Given the description of an element on the screen output the (x, y) to click on. 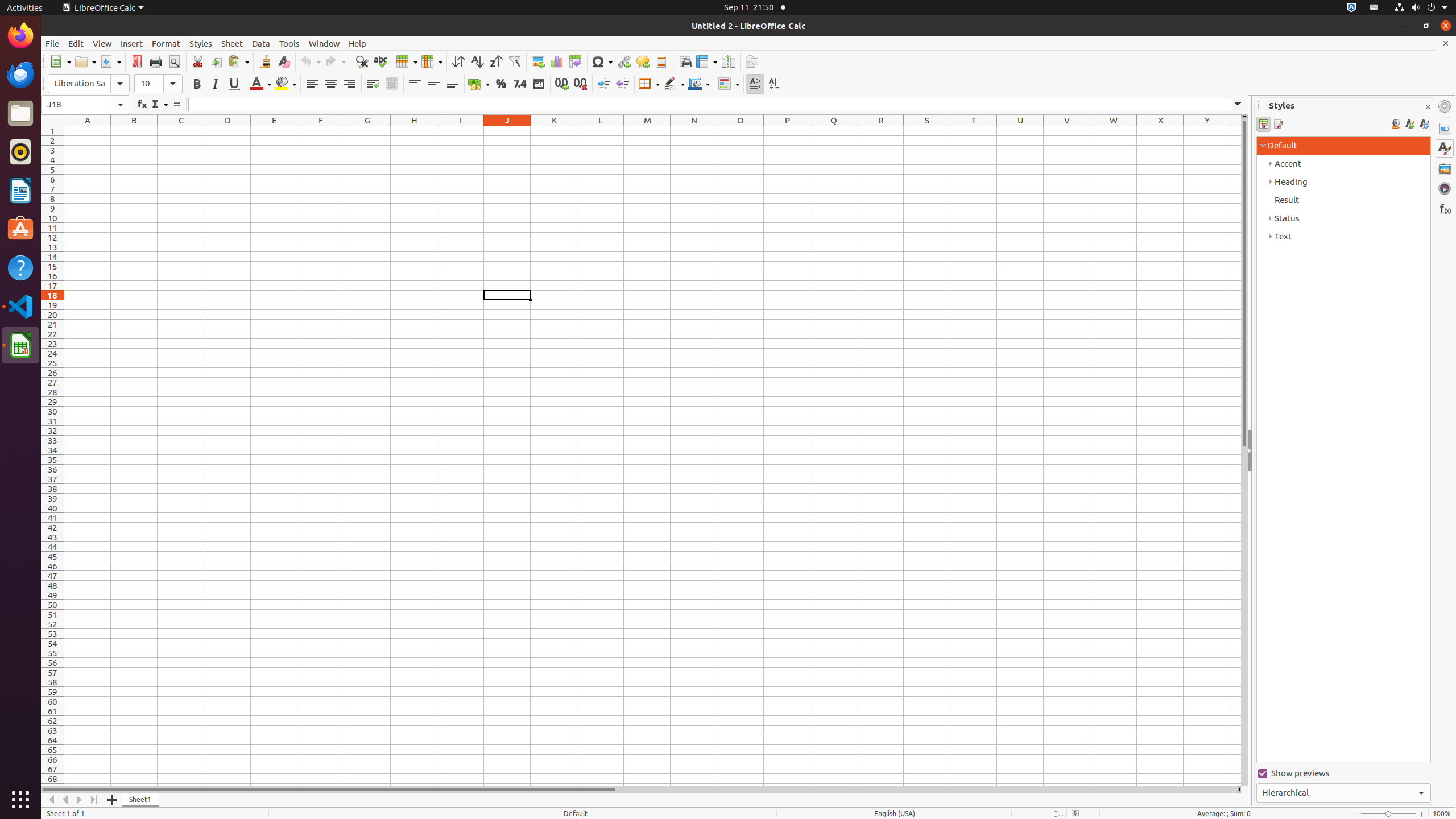
Sort Ascending Element type: push-button (476, 61)
K1 Element type: table-cell (553, 130)
Font Size Element type: text (148, 83)
Sheet1 Element type: page-tab (140, 799)
Find & Replace Element type: toggle-button (361, 61)
